Given the description of an element on the screen output the (x, y) to click on. 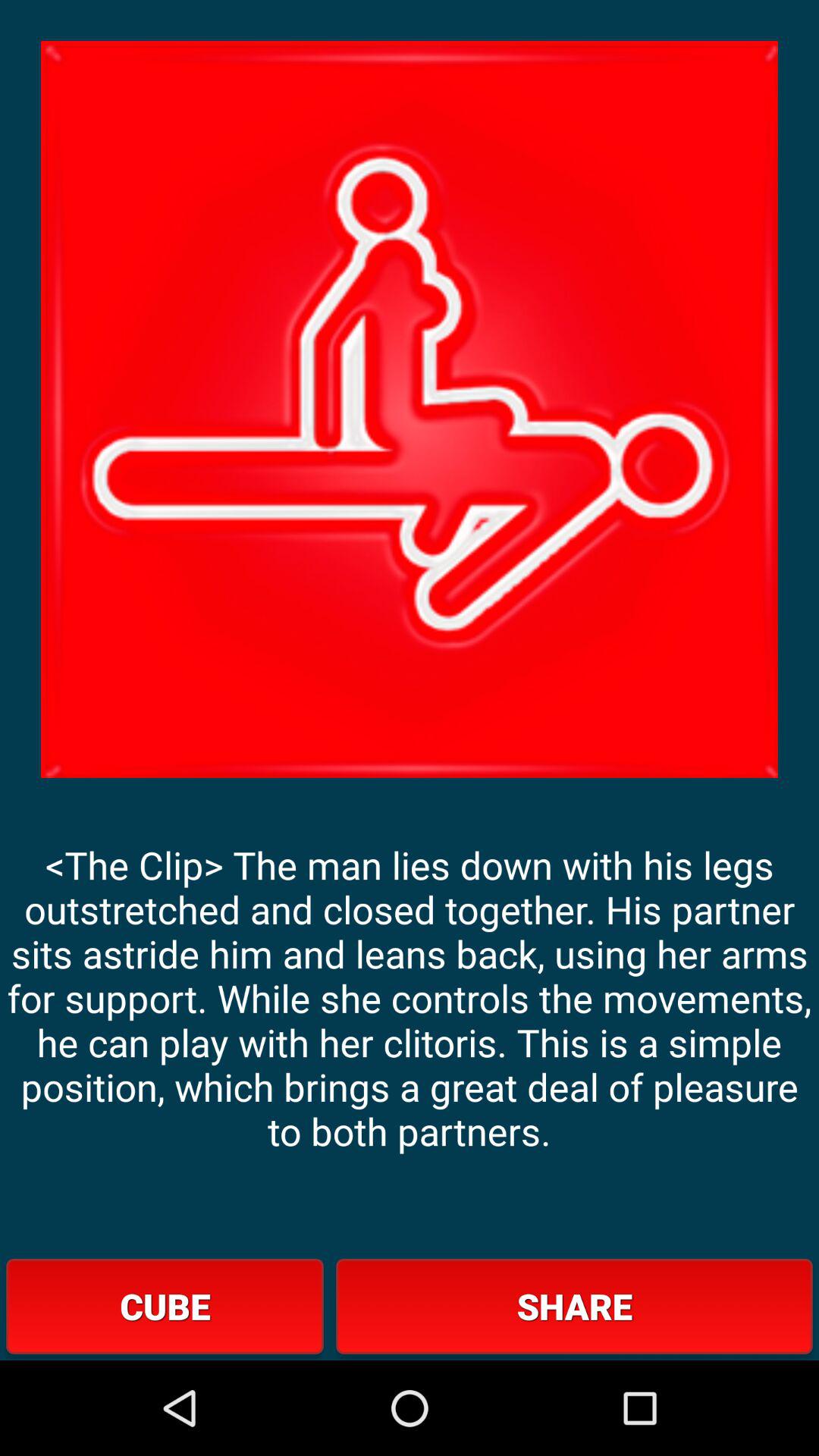
tap the icon next to share (164, 1306)
